Given the description of an element on the screen output the (x, y) to click on. 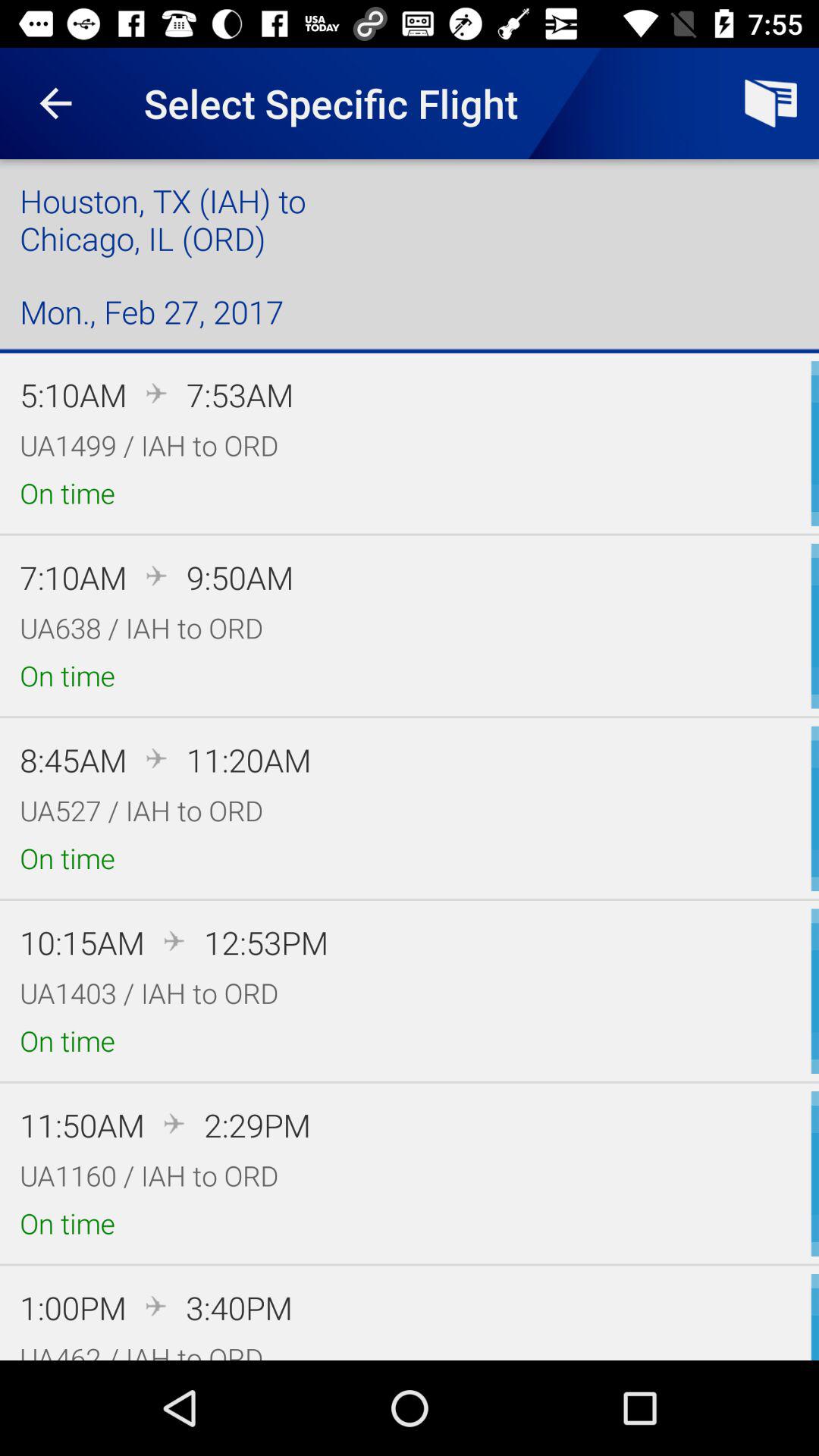
swipe until the ua638 iah to icon (141, 627)
